Given the description of an element on the screen output the (x, y) to click on. 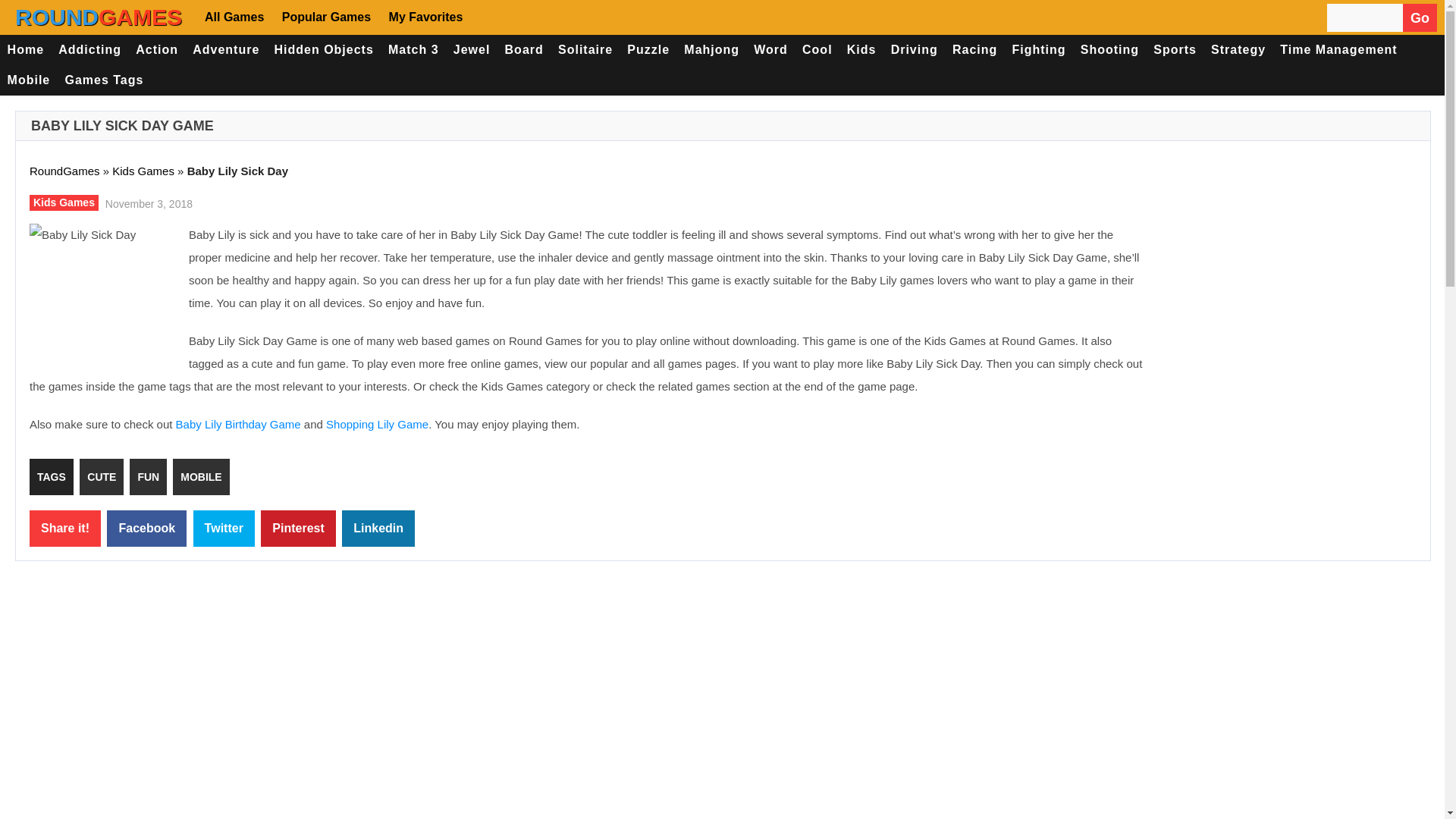
Advertisement (1288, 333)
My Favorites (424, 16)
Action (157, 50)
Addicting (89, 50)
Follow us on Facebook (492, 17)
Popular Games (324, 16)
Play Free Online Games No Downloads at RoundGames (98, 17)
All Games (237, 16)
ROUNDGAMES (98, 17)
Go (1420, 17)
Match 3 (412, 50)
Our YouTube Channel (583, 17)
8:54 pm (146, 202)
Home (25, 50)
